Given the description of an element on the screen output the (x, y) to click on. 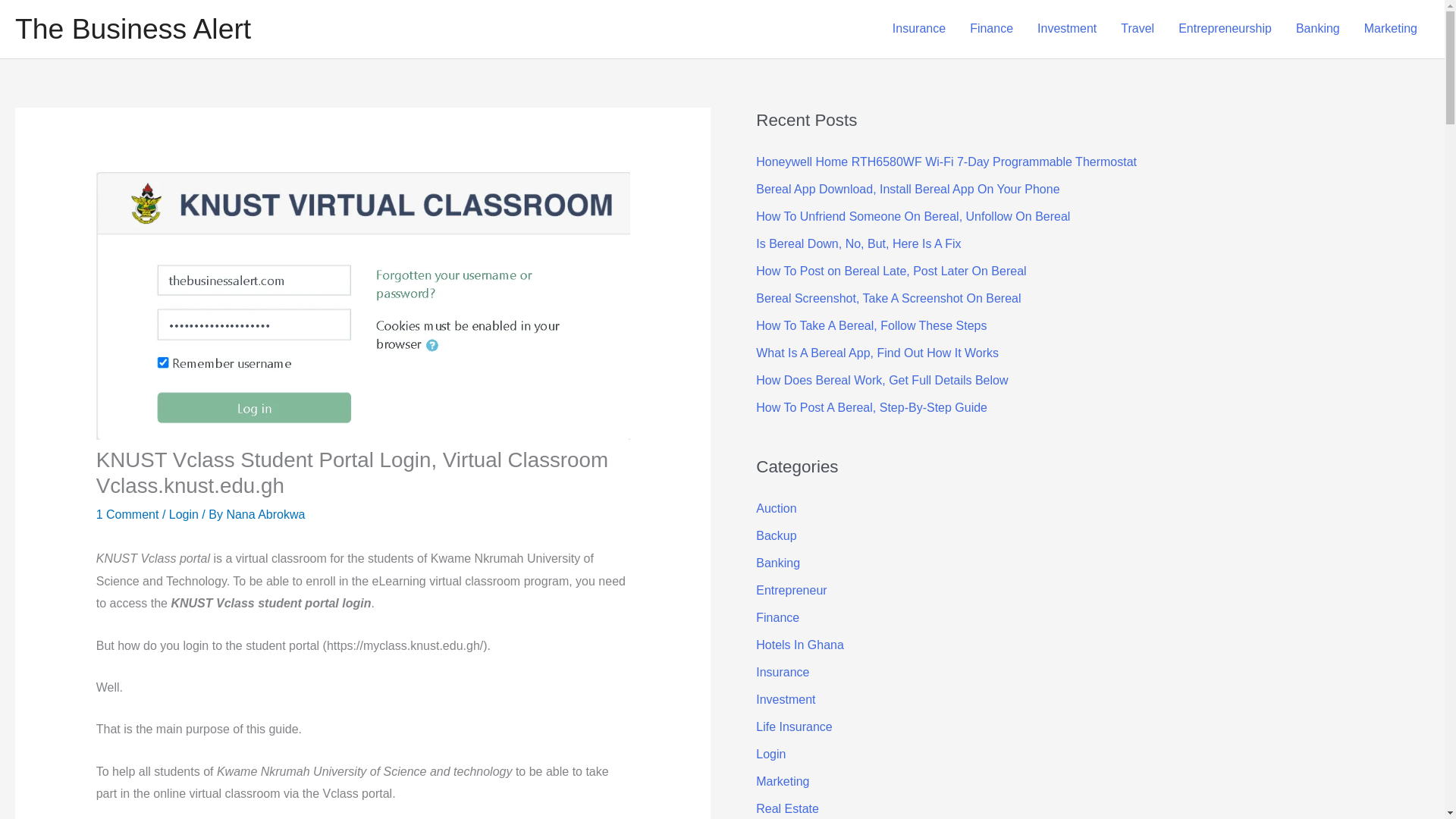
Marketing (1390, 28)
Travel (1137, 28)
Banking (1318, 28)
Finance (991, 28)
Investment (1066, 28)
The Business Alert (132, 29)
Nana Abrokwa (264, 513)
Insurance (919, 28)
Entrepreneurship (1225, 28)
Login (183, 513)
